Given the description of an element on the screen output the (x, y) to click on. 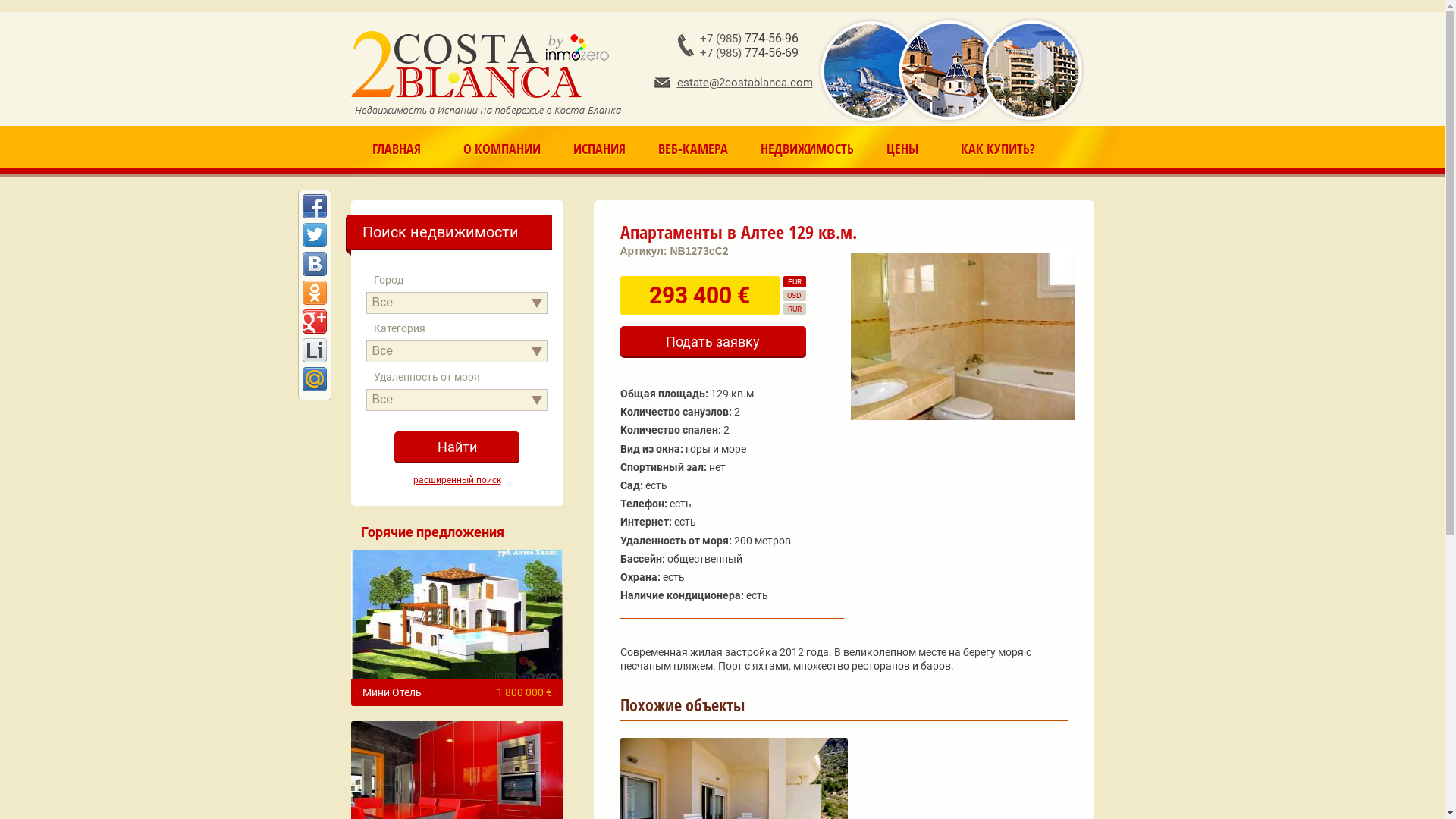
USD Element type: text (793, 295)
RUR Element type: text (793, 308)
estate@2costablanca.com Element type: text (732, 82)
EUR Element type: text (793, 281)
Jump to navigation Element type: text (722, 2)
